Given the description of an element on the screen output the (x, y) to click on. 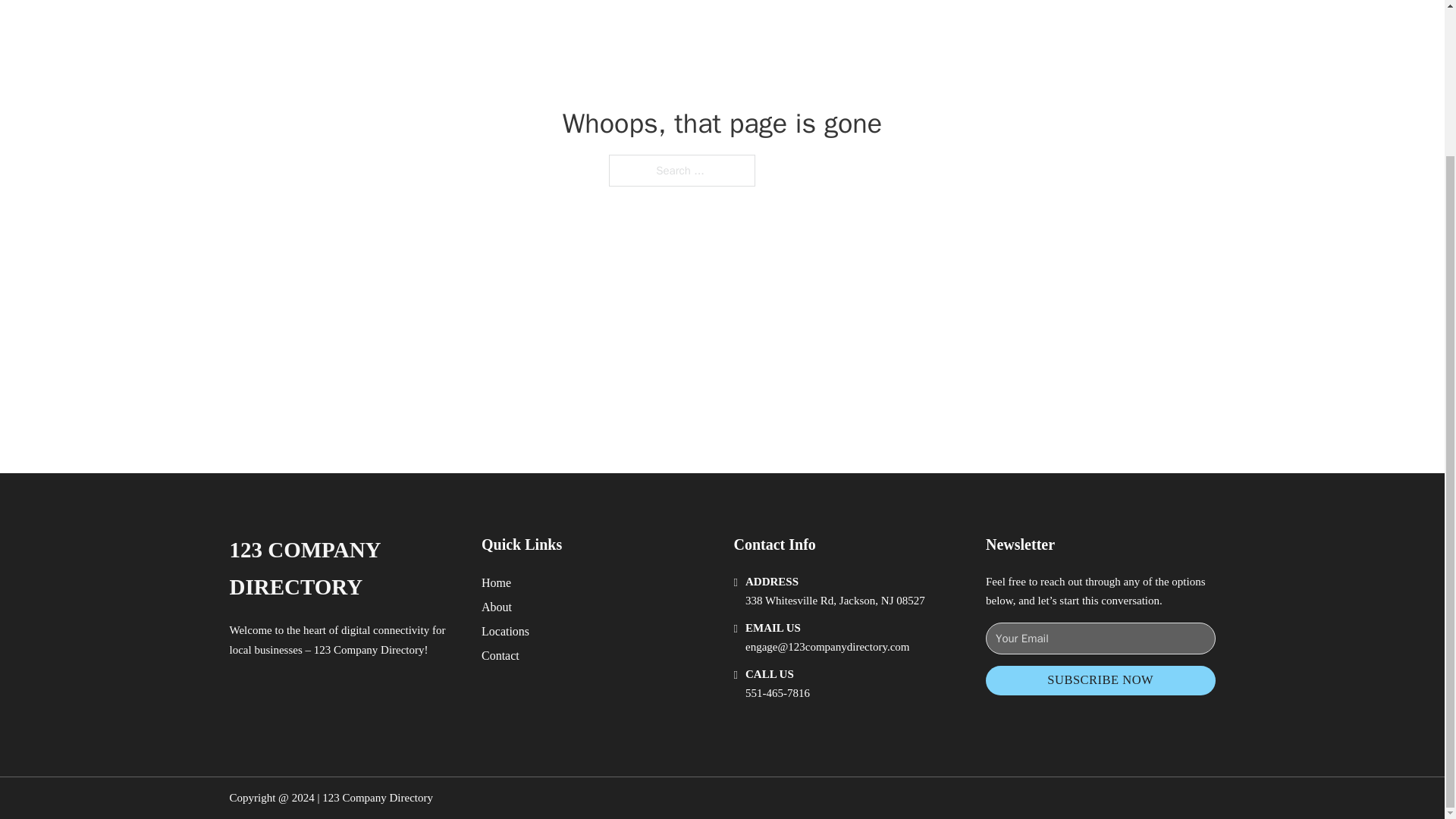
Contact (500, 655)
123 COMPANY DIRECTORY (343, 568)
Locations (505, 630)
About (496, 607)
Home (496, 582)
551-465-7816 (777, 693)
SUBSCRIBE NOW (1100, 680)
